Given the description of an element on the screen output the (x, y) to click on. 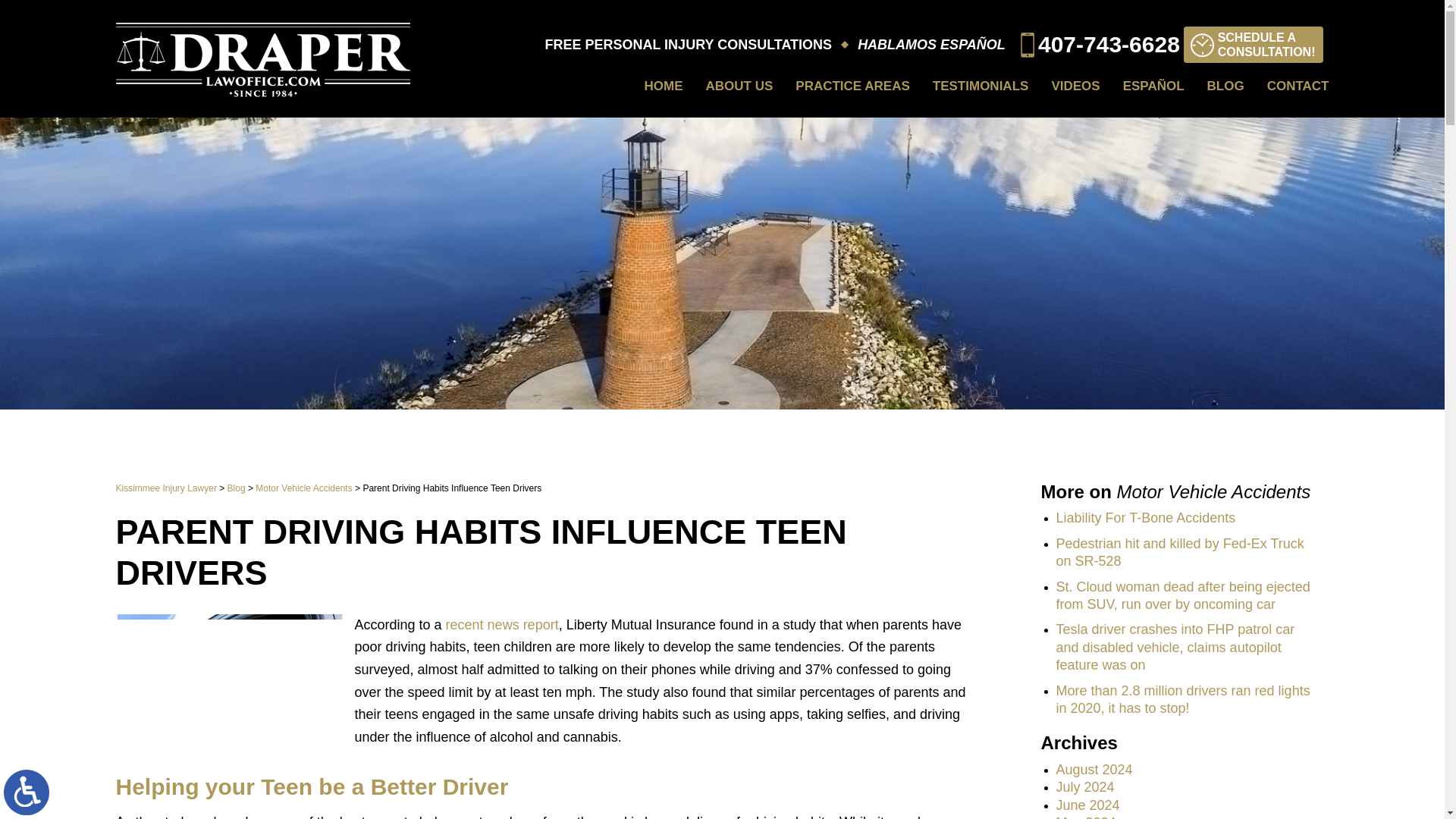
HOME (663, 85)
Switch to ADA Accessible Theme (26, 791)
ABOUT US (1253, 44)
recent news report (739, 85)
Blog (502, 624)
Motor Vehicle Accidents (236, 488)
BLOG (304, 488)
Kissimmee Injury Lawyer (1225, 85)
CONTACT (165, 488)
